Given the description of an element on the screen output the (x, y) to click on. 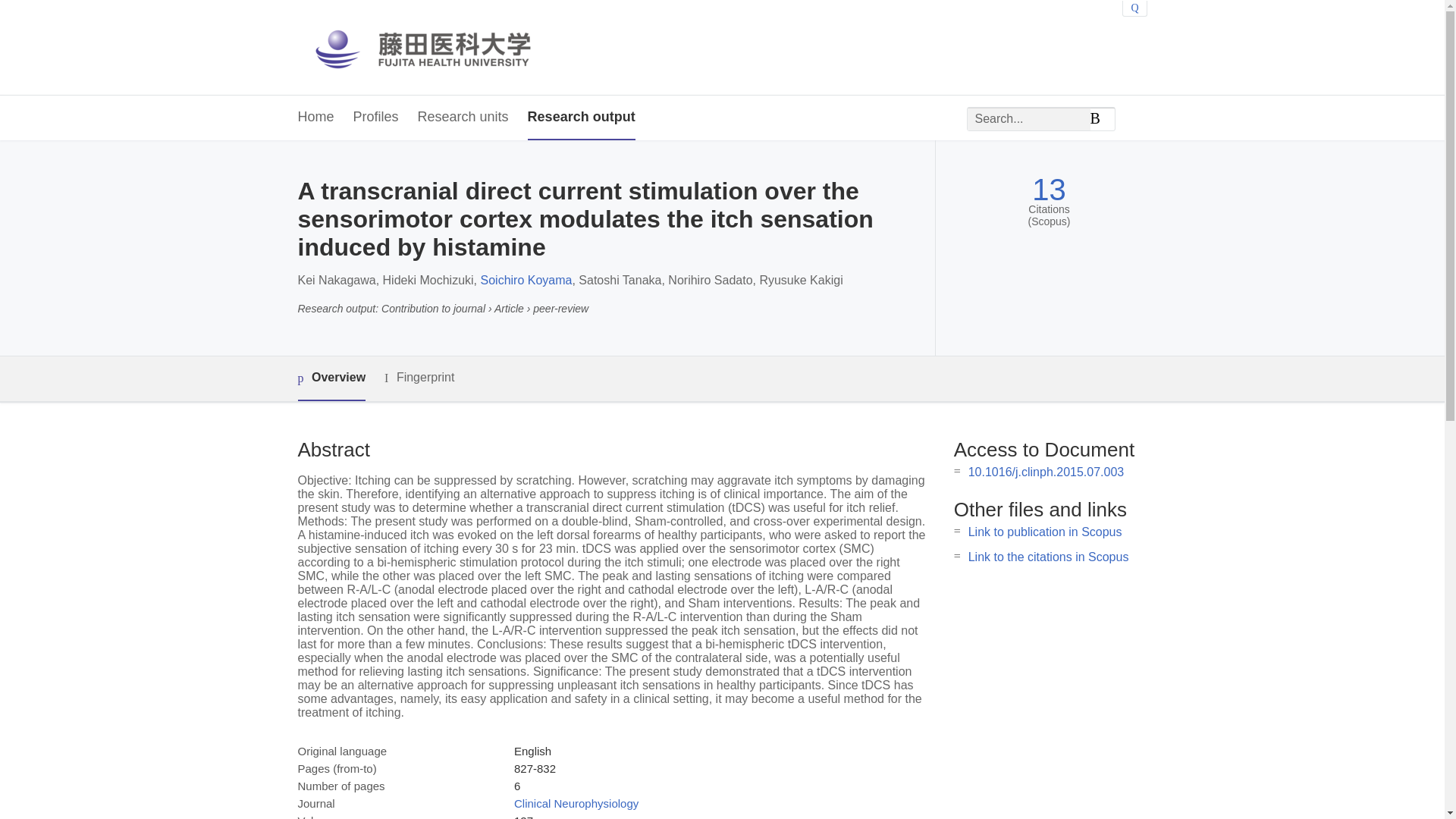
Link to the citations in Scopus (1048, 556)
Research output (580, 117)
Link to publication in Scopus (1045, 531)
Overview (331, 378)
Fingerprint (419, 377)
Research units (462, 117)
Soichiro Koyama (526, 279)
13 (1048, 189)
Fujita Health University Home (437, 47)
Clinical Neurophysiology (576, 802)
Profiles (375, 117)
